Given the description of an element on the screen output the (x, y) to click on. 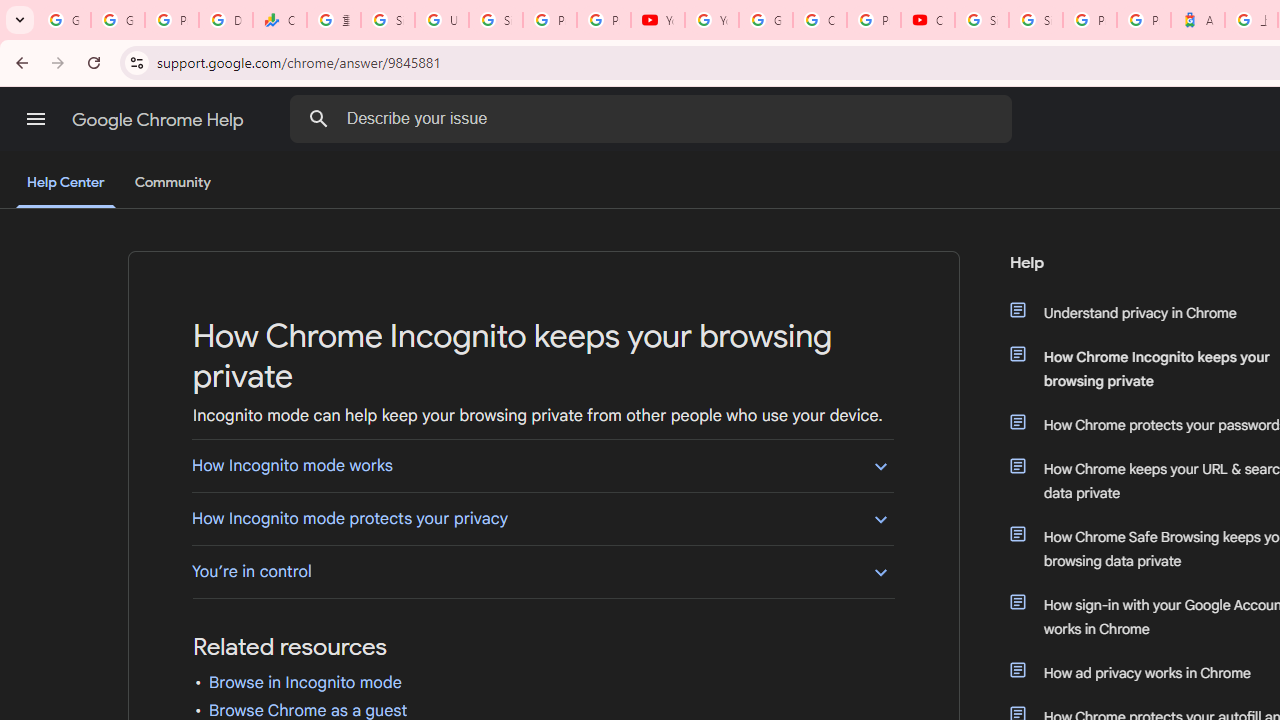
Atour Hotel - Google hotels (1197, 20)
Content Creator Programs & Opportunities - YouTube Creators (927, 20)
Browse in Incognito mode (304, 682)
Search Help Center (318, 118)
How Incognito mode works (542, 465)
Sign in - Google Accounts (1035, 20)
Sign in - Google Accounts (387, 20)
